Given the description of an element on the screen output the (x, y) to click on. 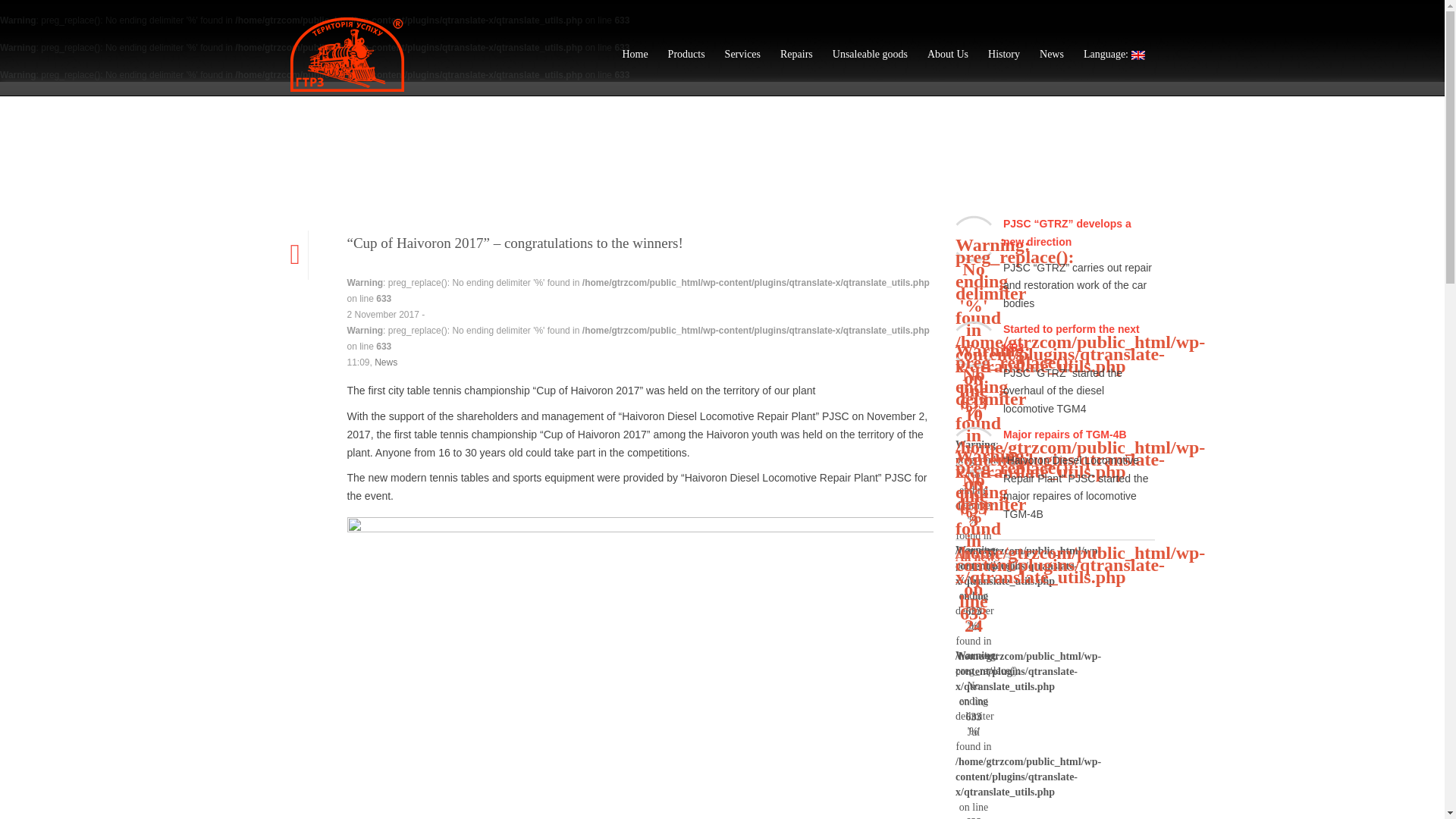
News (385, 362)
Started to perform the next KP2 (1071, 337)
Major repairs of TGM-4B (1064, 434)
